Given the description of an element on the screen output the (x, y) to click on. 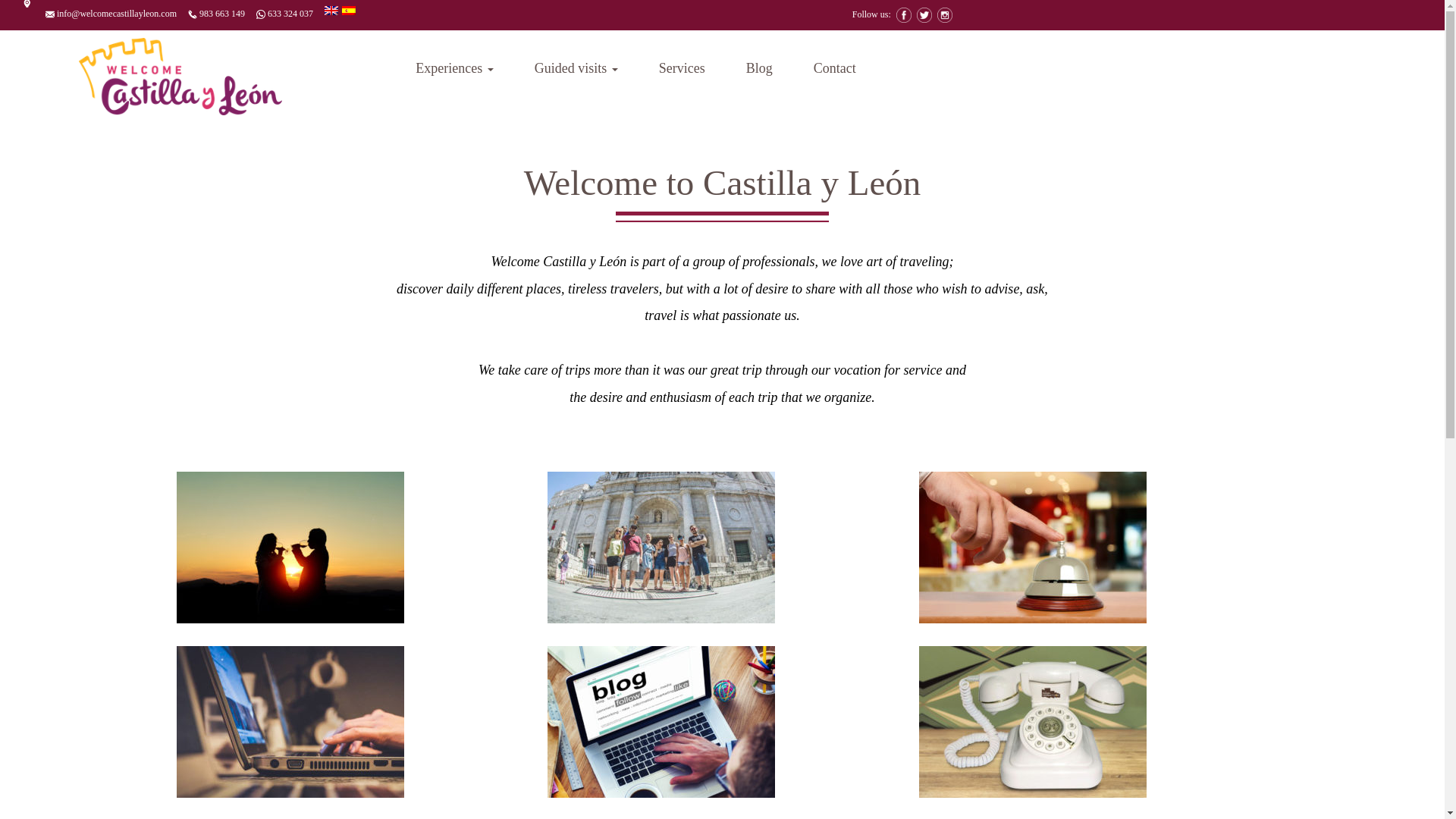
En (333, 8)
Experiences (454, 69)
Blog (759, 69)
Guided visits (575, 69)
Contact (834, 69)
Services (681, 69)
Es (347, 8)
Welcome (180, 76)
Welcome (180, 73)
